Given the description of an element on the screen output the (x, y) to click on. 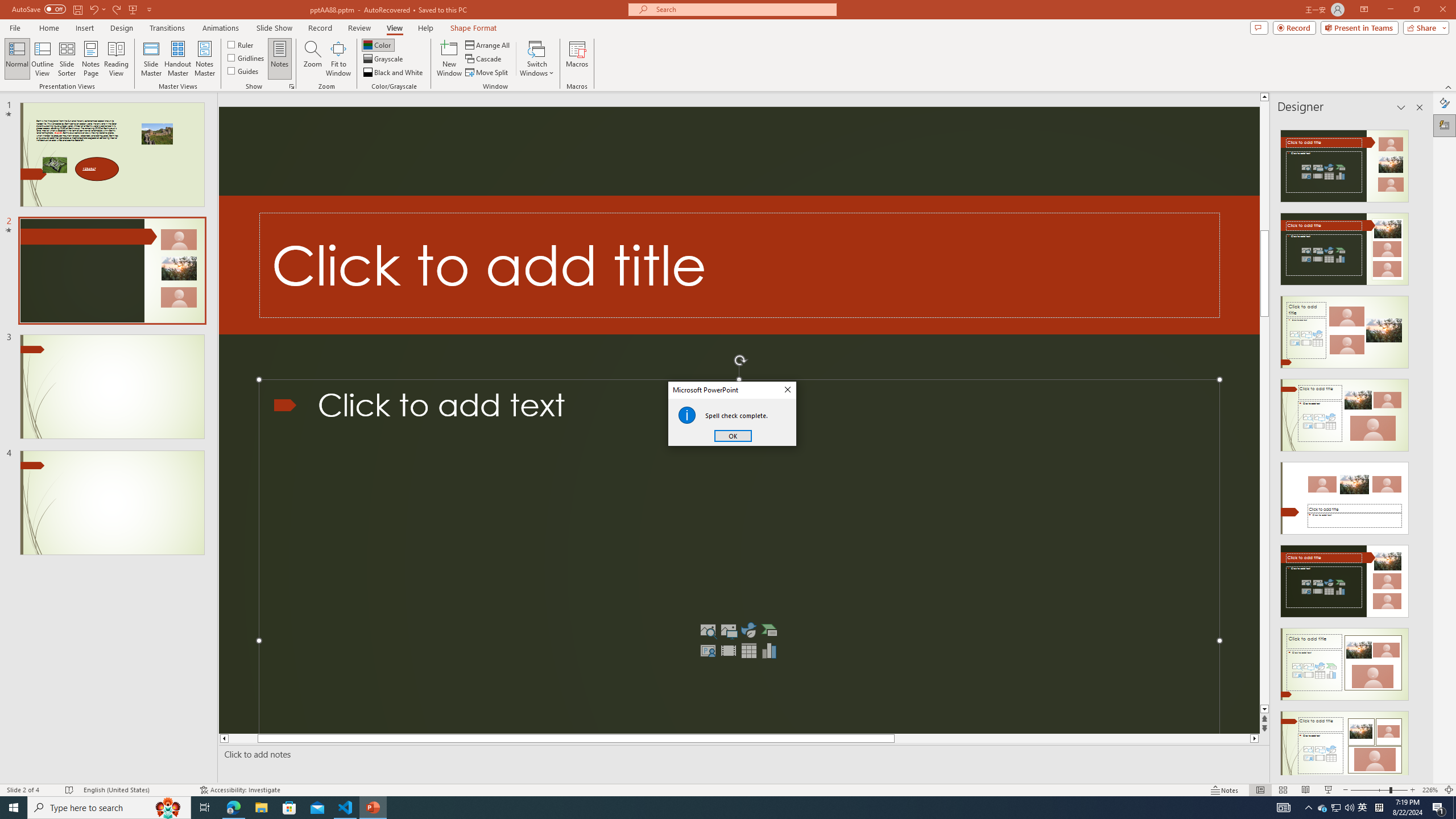
Notes (279, 58)
Class: NetUIScrollBar (1418, 447)
Macros (576, 58)
Ruler (241, 44)
Cascade (484, 58)
Grid Settings... (291, 85)
Switch Windows (537, 58)
